Given the description of an element on the screen output the (x, y) to click on. 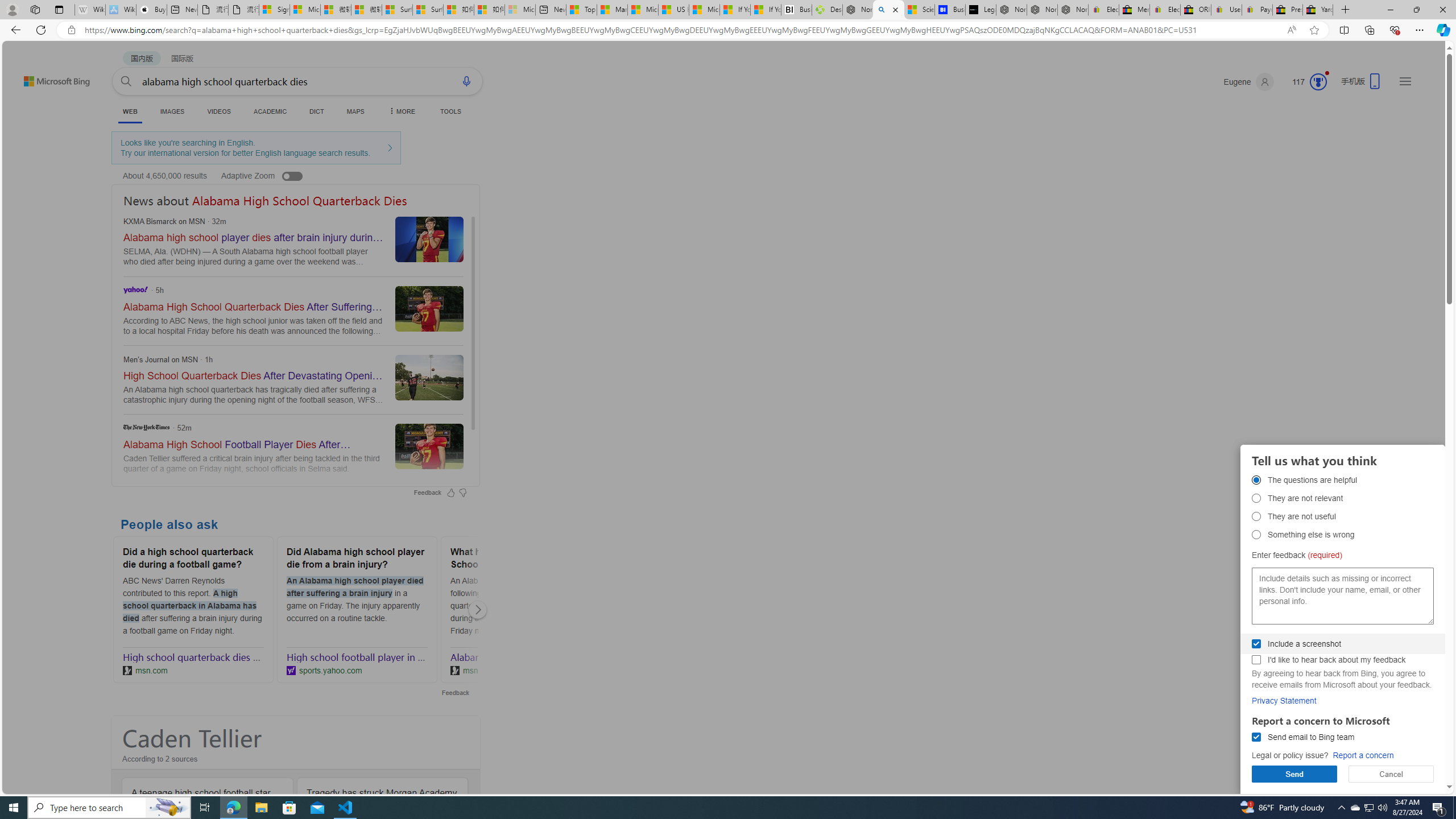
They are not useful They are not useful (1256, 515)
Report a concern (1362, 755)
Privacy Statement (1284, 700)
